Given the description of an element on the screen output the (x, y) to click on. 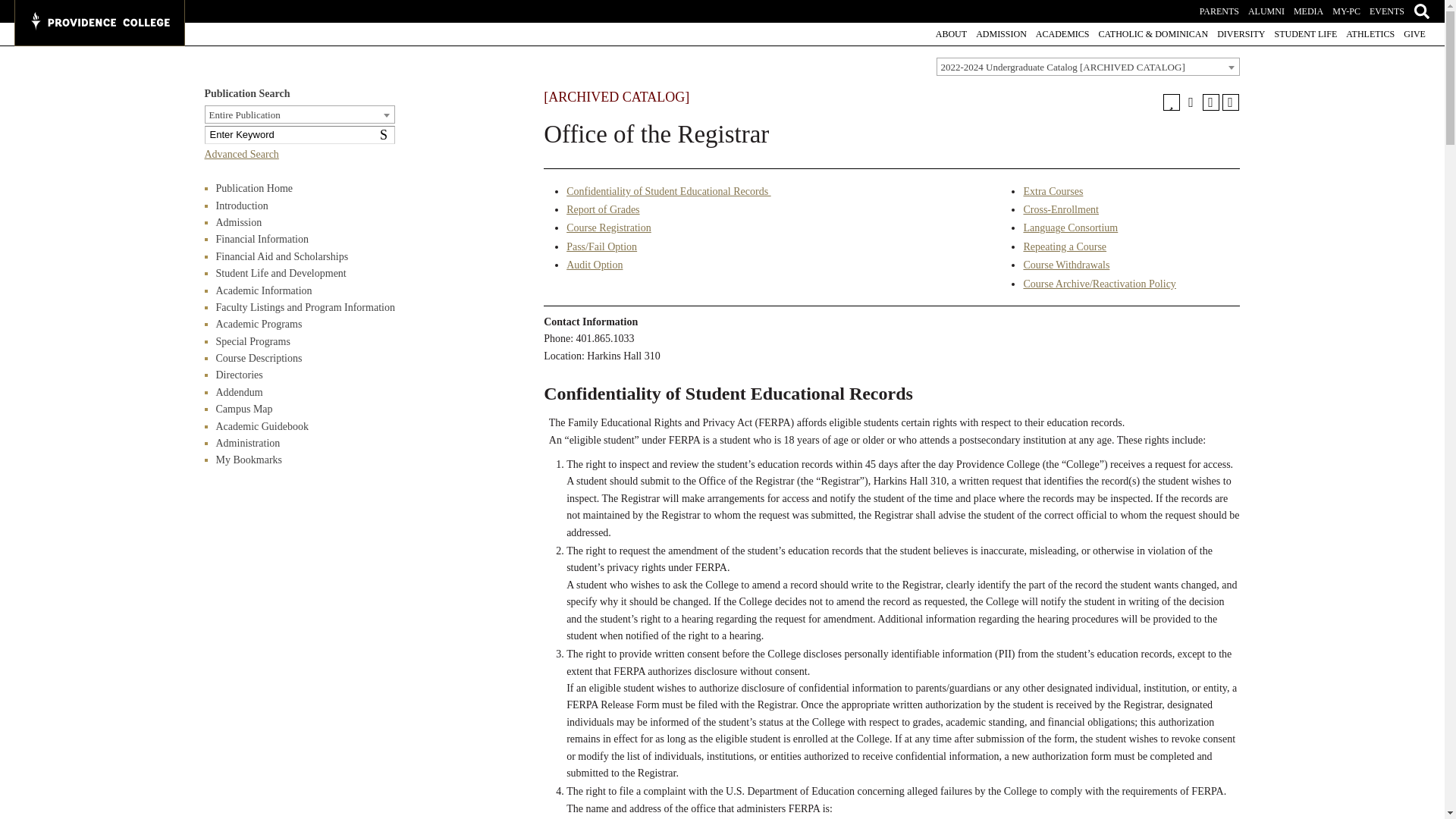
EVENTS (1387, 10)
Search Keyword Field, required (299, 135)
Academic Information (263, 290)
Publication Home (253, 188)
Addendum (238, 392)
Financial Information (261, 238)
Course Descriptions (258, 357)
ACADEMICS (1062, 33)
GO (16, 9)
Entire Publication (299, 115)
Special Programs (252, 341)
Select a Publication (1087, 66)
Advanced Search (242, 153)
Academic Programs (258, 324)
